Given the description of an element on the screen output the (x, y) to click on. 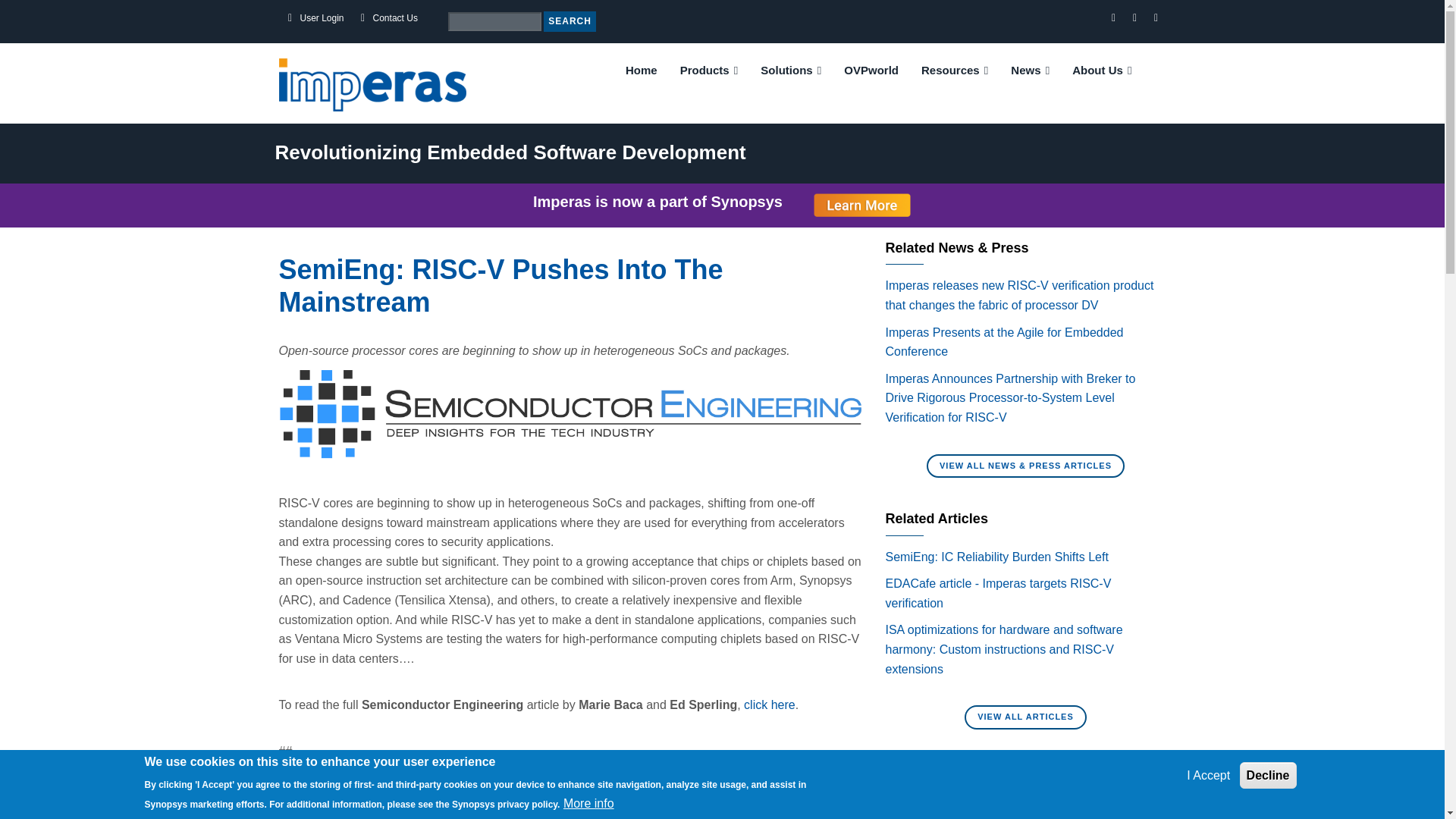
Enter the terms you wish to search for. (494, 21)
Contact Us (394, 18)
Home (372, 83)
Home (641, 70)
Search (569, 21)
User Login (321, 18)
Search (569, 21)
Products (708, 70)
Search (569, 21)
Solutions (790, 70)
